Given the description of an element on the screen output the (x, y) to click on. 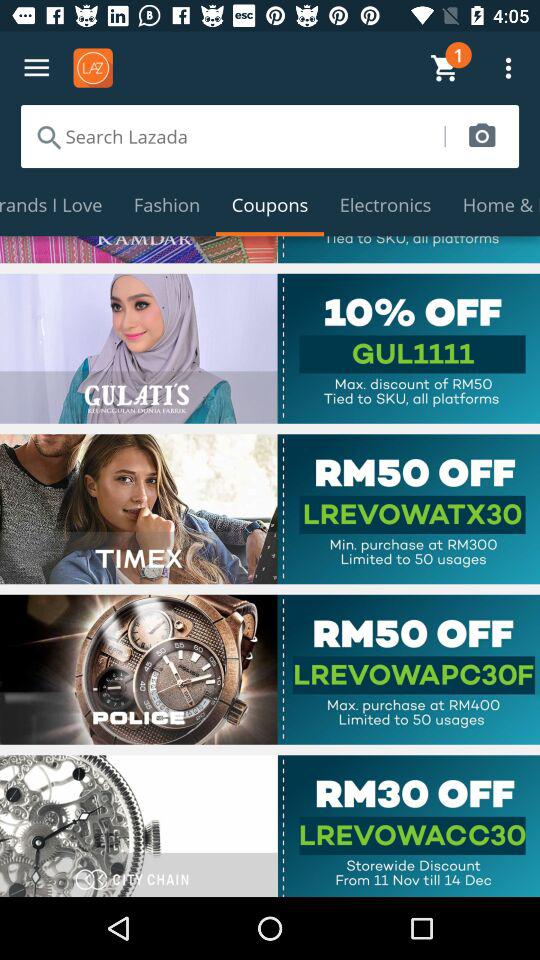
open options (36, 68)
